Given the description of an element on the screen output the (x, y) to click on. 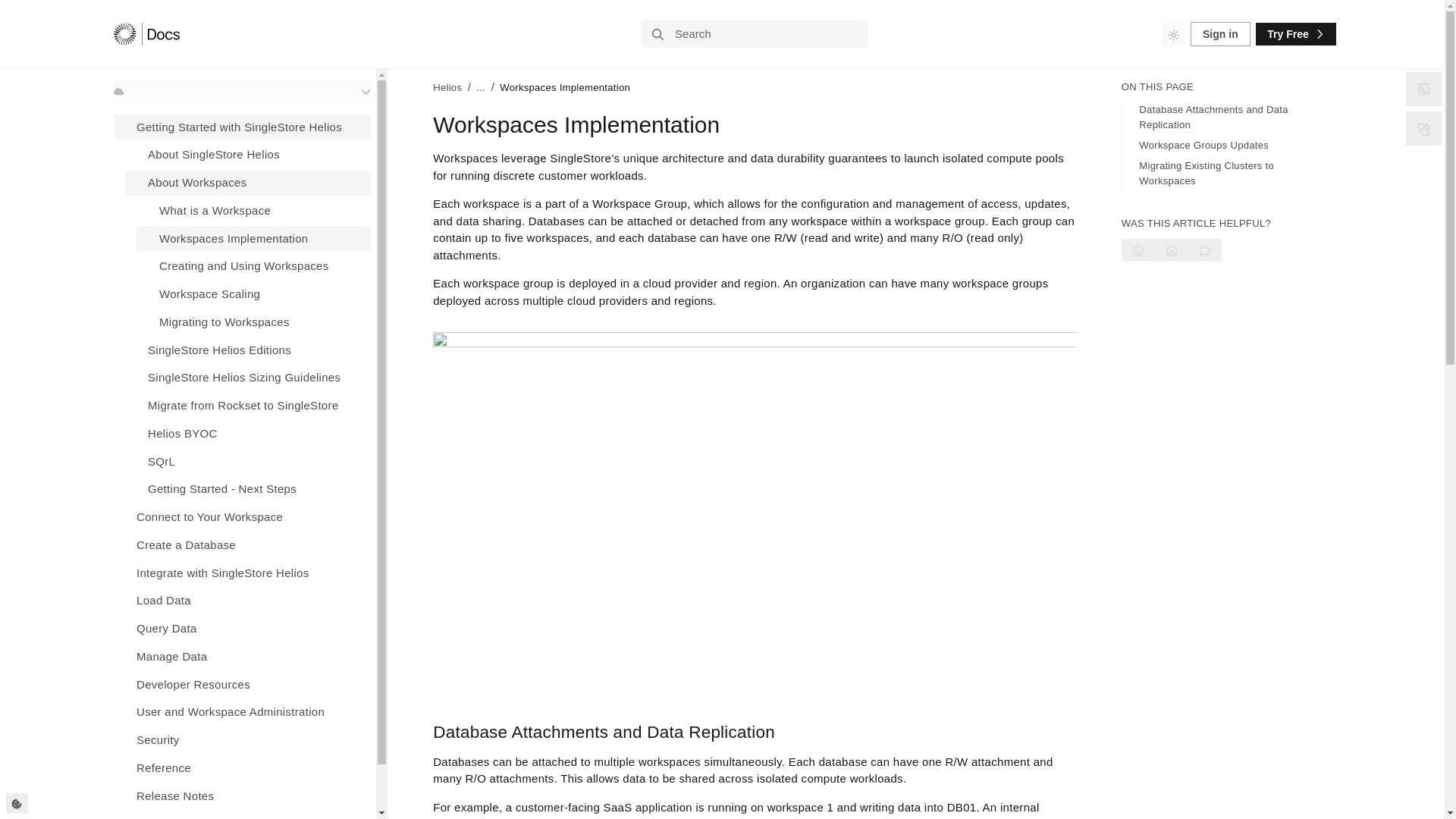
Query Data (242, 627)
SingleStore Helios Editions (248, 349)
About SingleStore Helios (248, 154)
Search (753, 33)
Migrate from Rockset to SingleStore (248, 405)
Load Data (242, 600)
Migrating to Workspaces (253, 321)
Create a Database (242, 544)
SingleStore Helios Sizing Guidelines (248, 377)
Support (242, 815)
Sign in (1220, 33)
Security (242, 740)
Try Free (1295, 33)
About Workspaces (248, 181)
Release Notes (242, 795)
